Given the description of an element on the screen output the (x, y) to click on. 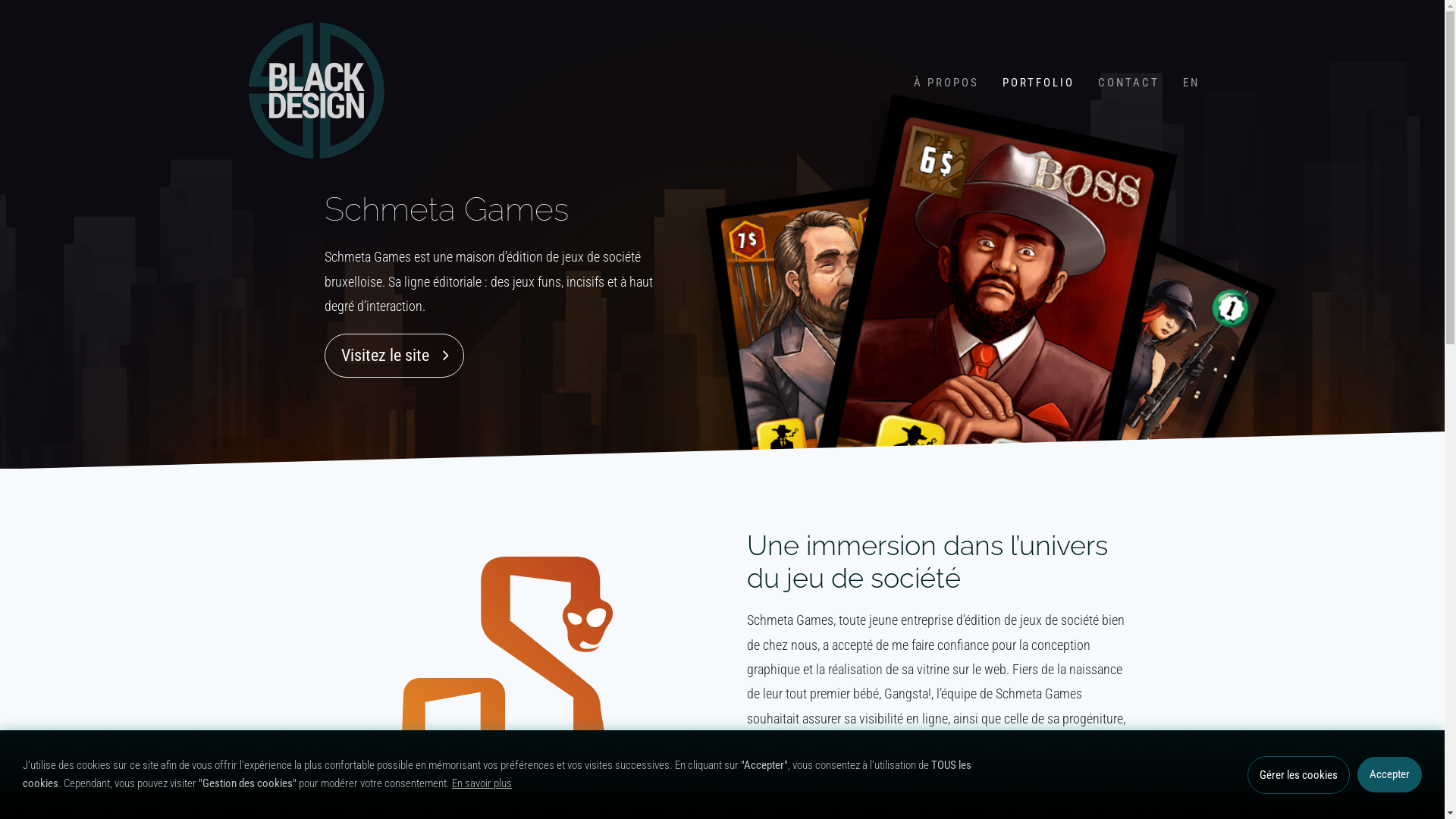
Accepter Element type: text (1389, 774)
CONTACT Element type: text (1128, 82)
PORTFOLIO Element type: text (1038, 82)
EN Element type: text (1191, 82)
Visitez le site Element type: text (394, 355)
En savoir plus Element type: text (481, 783)
